Given the description of an element on the screen output the (x, y) to click on. 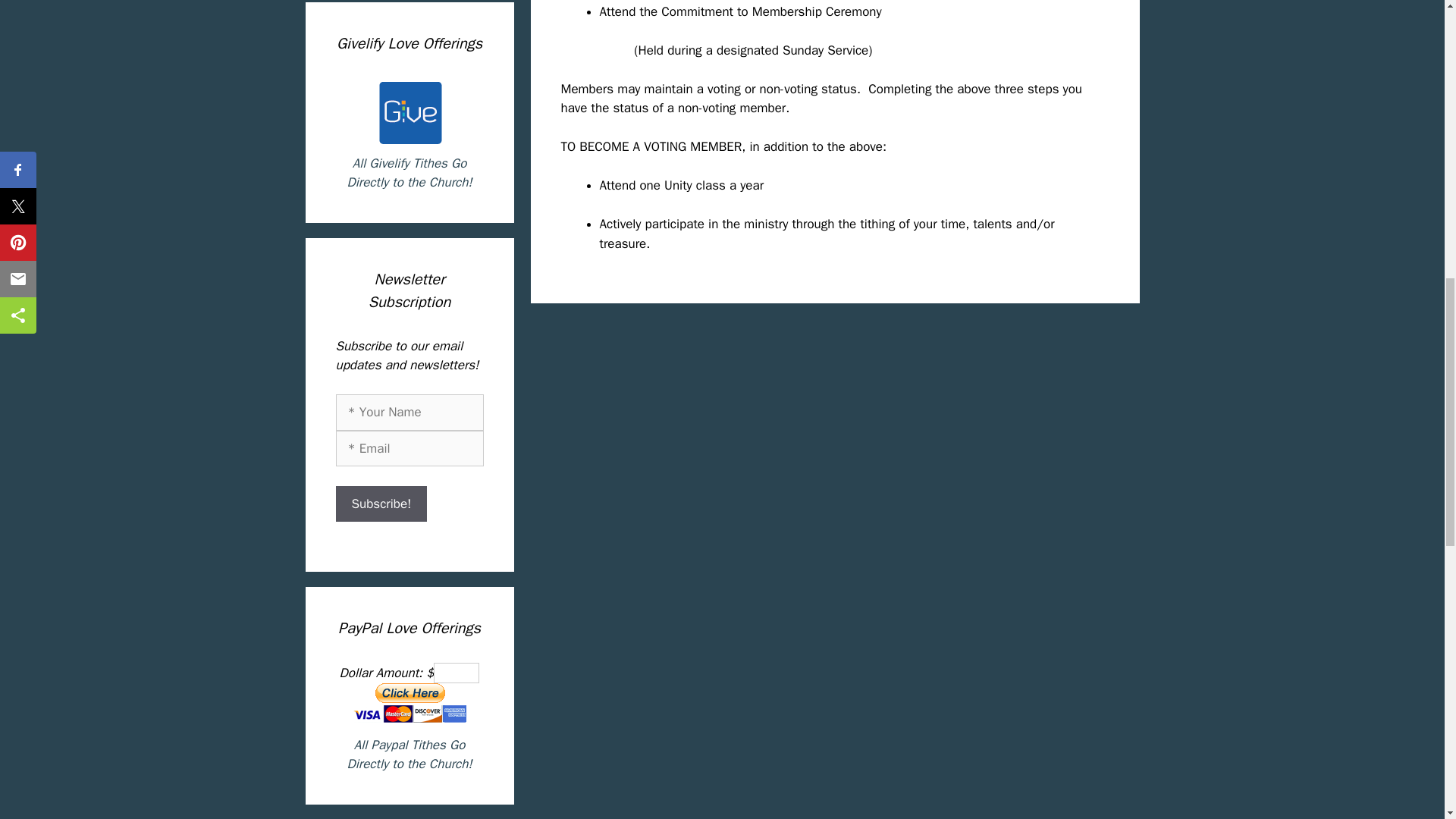
Subscribe! (380, 504)
Subscribe! (380, 504)
